Given the description of an element on the screen output the (x, y) to click on. 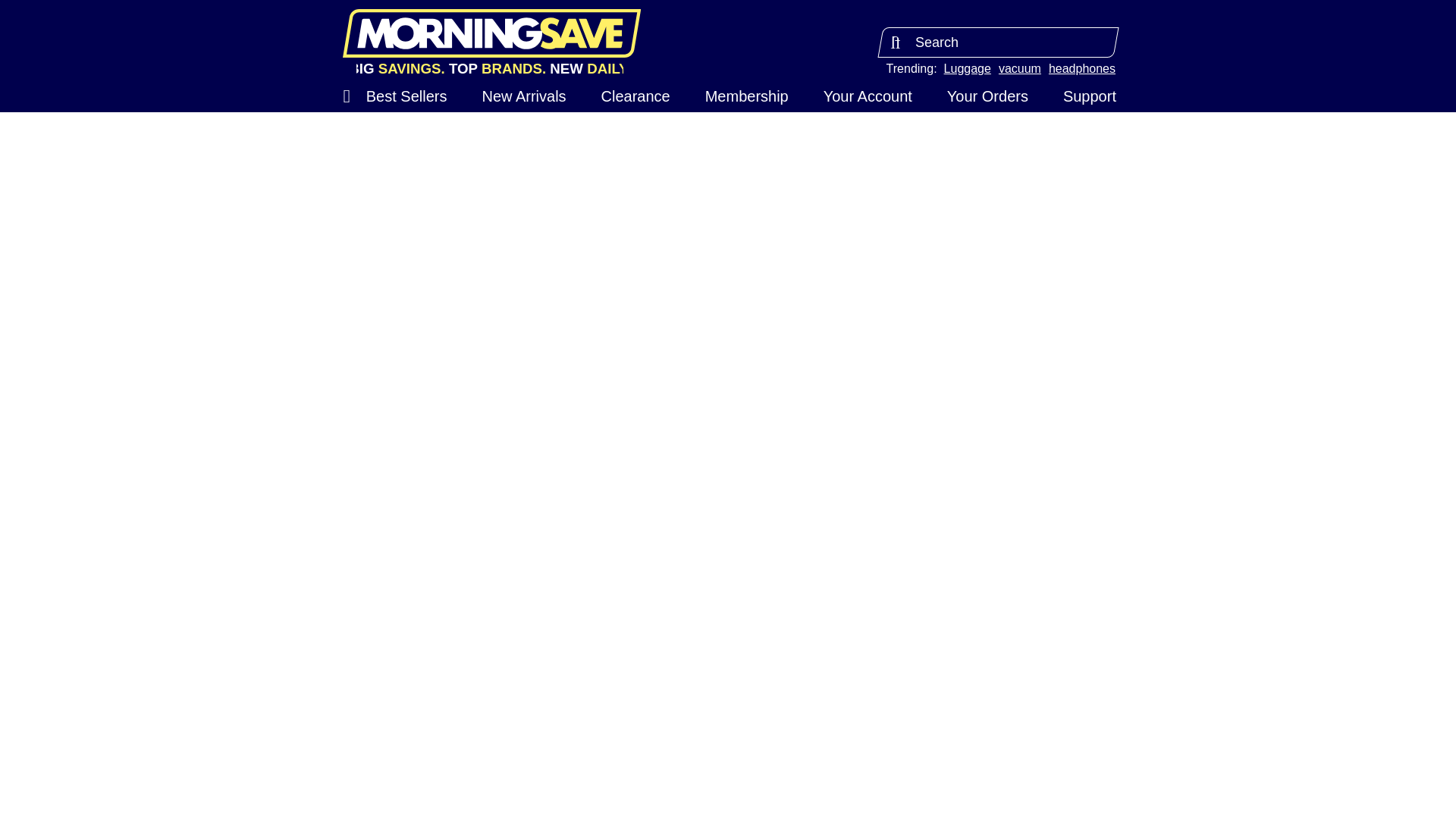
Home (491, 33)
Membership (746, 95)
Luggage (967, 68)
Search term (997, 41)
Support (1089, 95)
Your Account (868, 95)
BIG SAVINGS. TOP BRANDS. NEW DAILY. (489, 69)
Search for vacuum (1019, 68)
Clearance (635, 95)
New Arrivals (523, 95)
Search for headphones (1081, 68)
Your Orders (987, 95)
headphones (1081, 68)
Search for Luggage (967, 68)
vacuum (1019, 68)
